Given the description of an element on the screen output the (x, y) to click on. 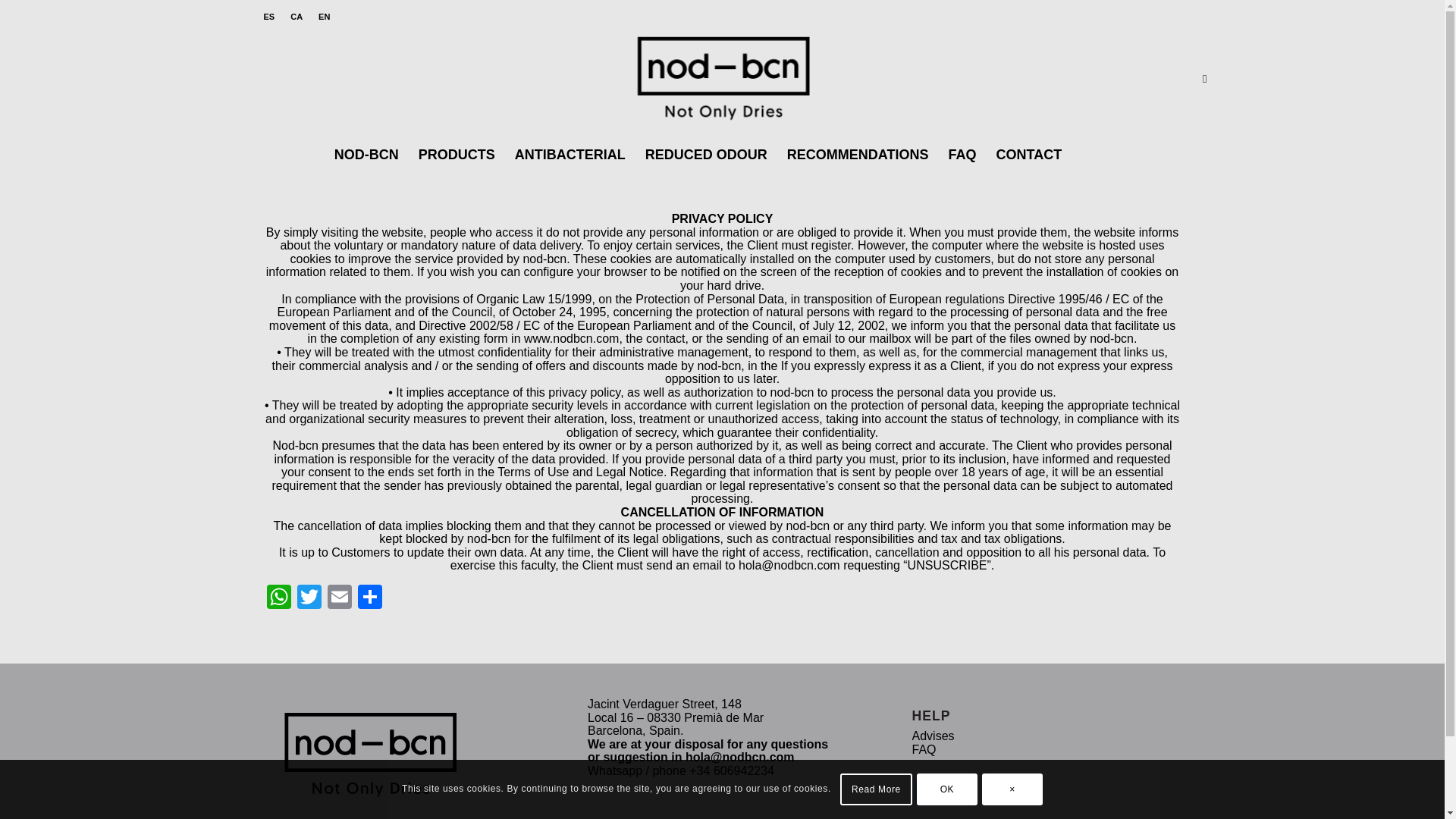
Read More (876, 789)
Email (339, 598)
NOD-BCN (366, 154)
Advises (933, 735)
Email (339, 598)
FAQ (963, 154)
Share (370, 598)
PRODUCTS (457, 154)
ANTIBACTERIAL (569, 154)
Twitter (309, 598)
Twitter (309, 598)
RECOMMENDATIONS (858, 154)
Instagram (957, 793)
CONTACT (1029, 154)
OK (946, 789)
